Given the description of an element on the screen output the (x, y) to click on. 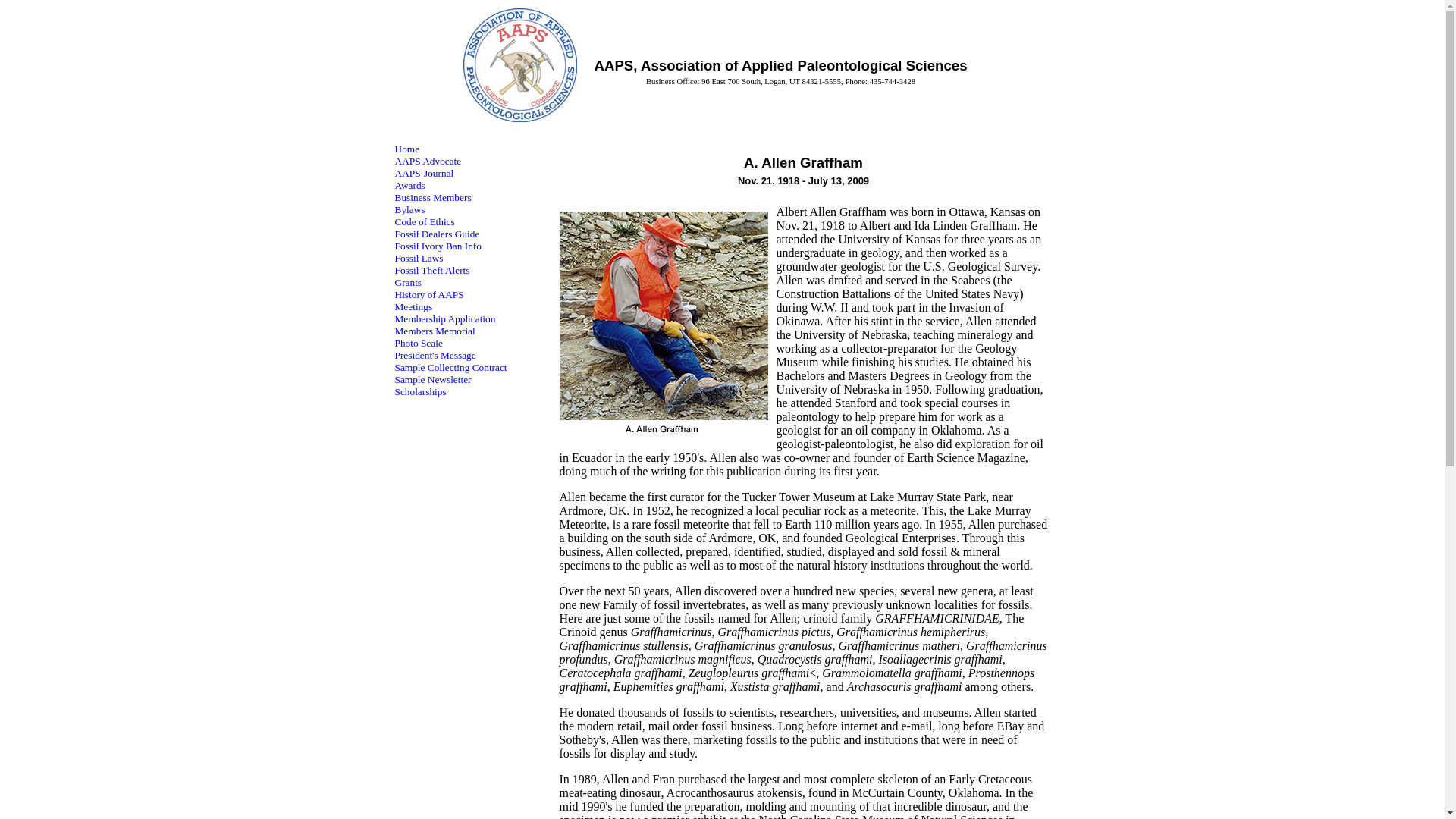
Fossil Laws (418, 257)
Grants (408, 282)
Bylaws (409, 209)
Scholarships (419, 391)
AAPS, The Association of Applied Paleontological Sciences (519, 65)
AAPS-Journal (423, 173)
Fossil Ivory Ban Info (437, 245)
Photo Scale (418, 342)
Sample Newsletter (432, 378)
Business Members (432, 197)
Fossil Dealers Guide (436, 233)
Fossil Theft Alerts (431, 270)
Membership Application (444, 318)
Meetings (413, 306)
Sample Collecting Contract (450, 367)
